Given the description of an element on the screen output the (x, y) to click on. 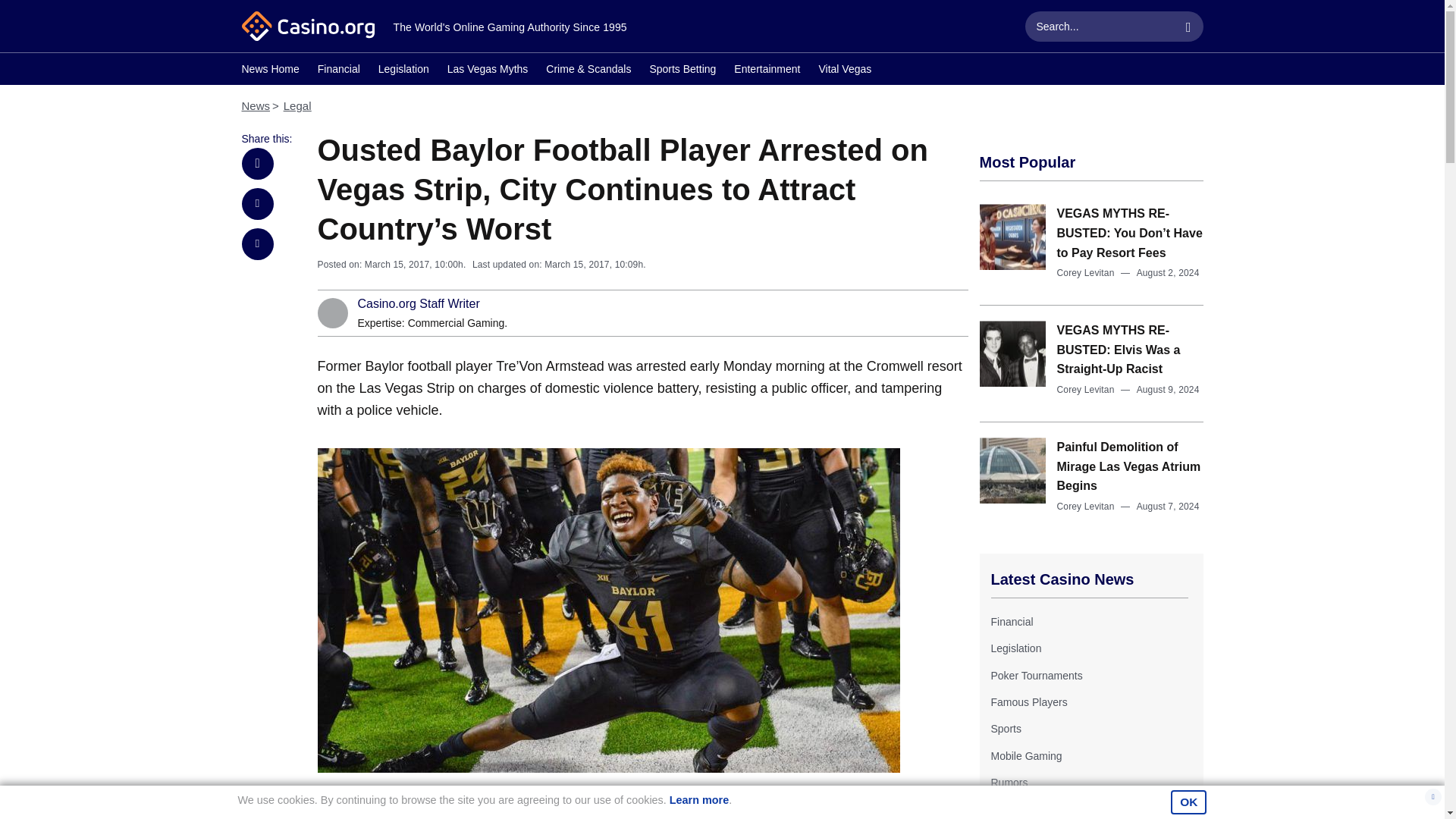
Commercial Gaming (456, 322)
Legislation (1015, 648)
Poker Tournaments (1035, 675)
Legislation (403, 70)
Famous Players (1028, 702)
Sports (1005, 728)
Corey Levitan (1086, 389)
News Home (269, 70)
Las Vegas Myths (487, 70)
iGaming (1009, 809)
